Given the description of an element on the screen output the (x, y) to click on. 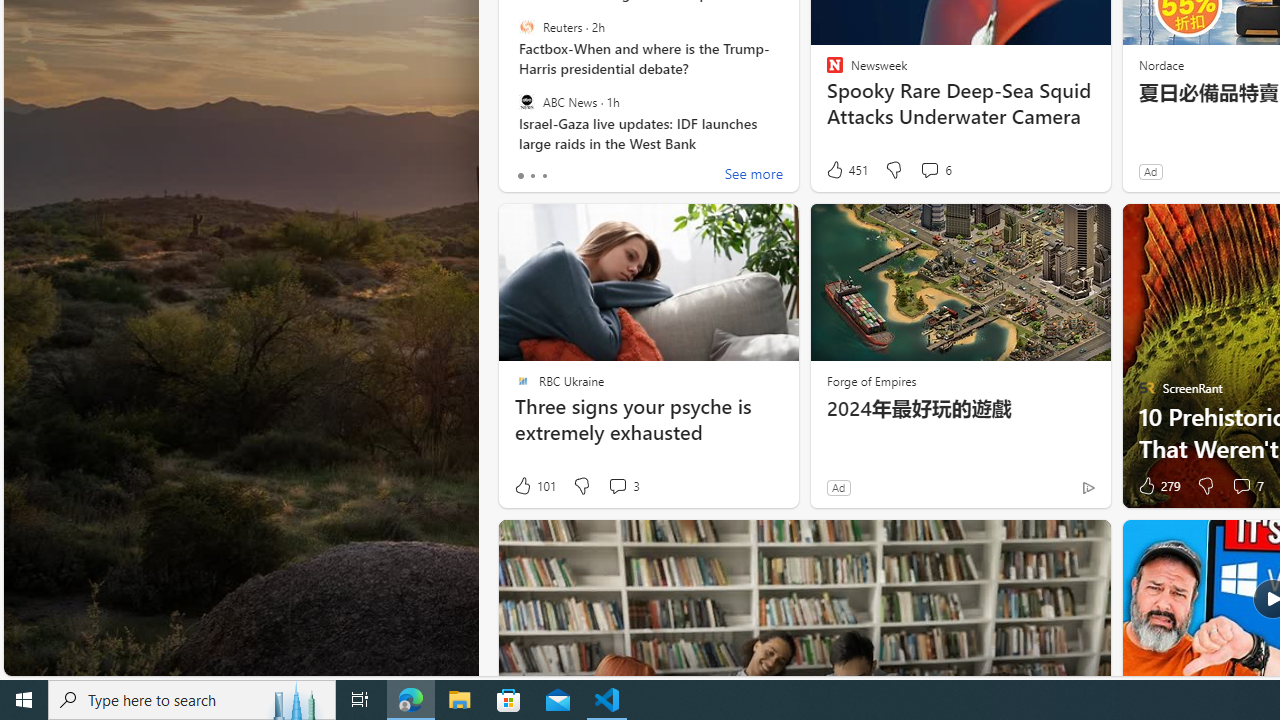
View comments 7 Comment (1241, 485)
Ad (838, 487)
Dislike (1204, 485)
Reuters (526, 27)
101 Like (534, 485)
tab-2 (543, 175)
View comments 3 Comment (617, 485)
